Given the description of an element on the screen output the (x, y) to click on. 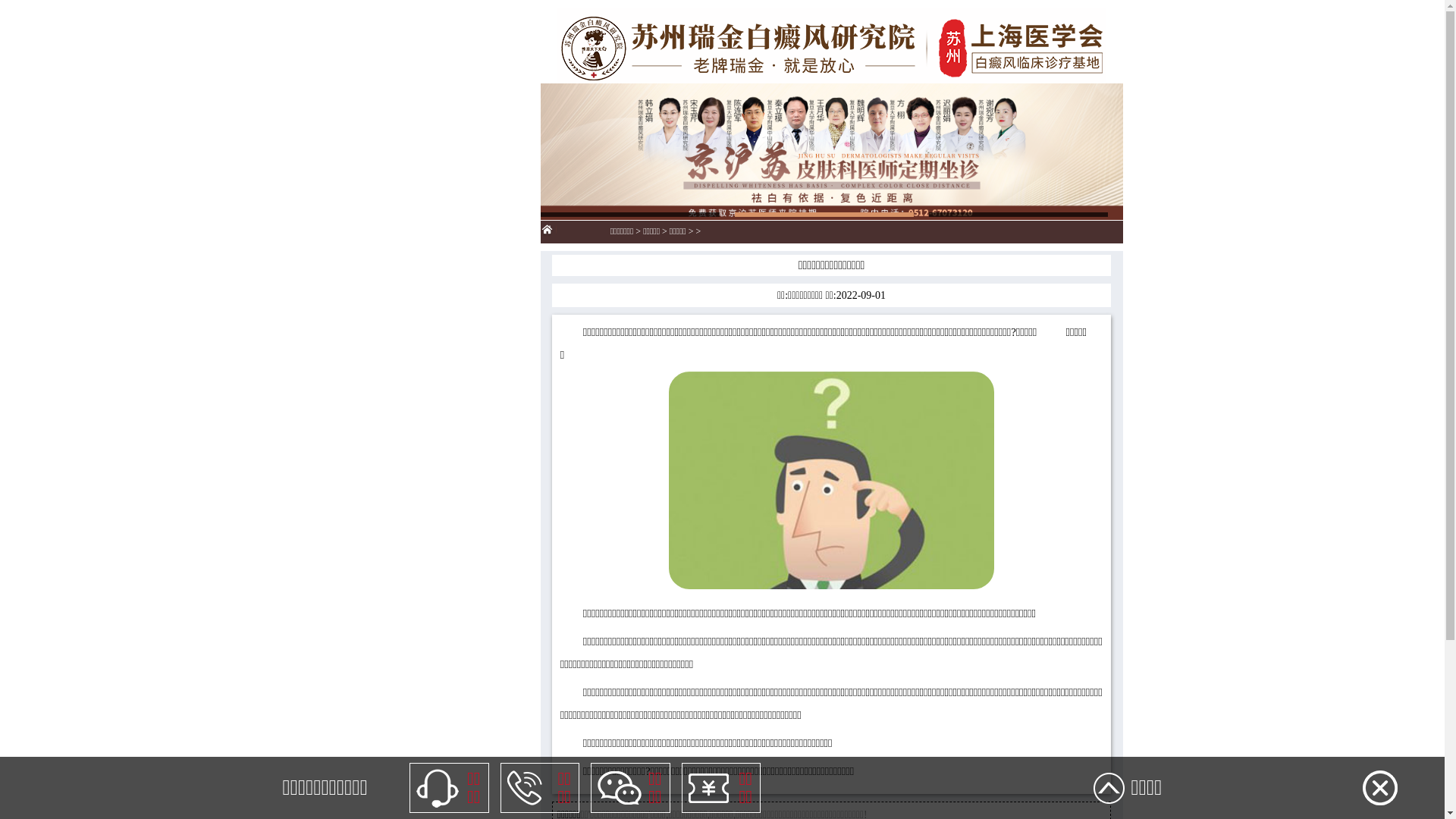
banner1 Element type: hover (830, 212)
